Given the description of an element on the screen output the (x, y) to click on. 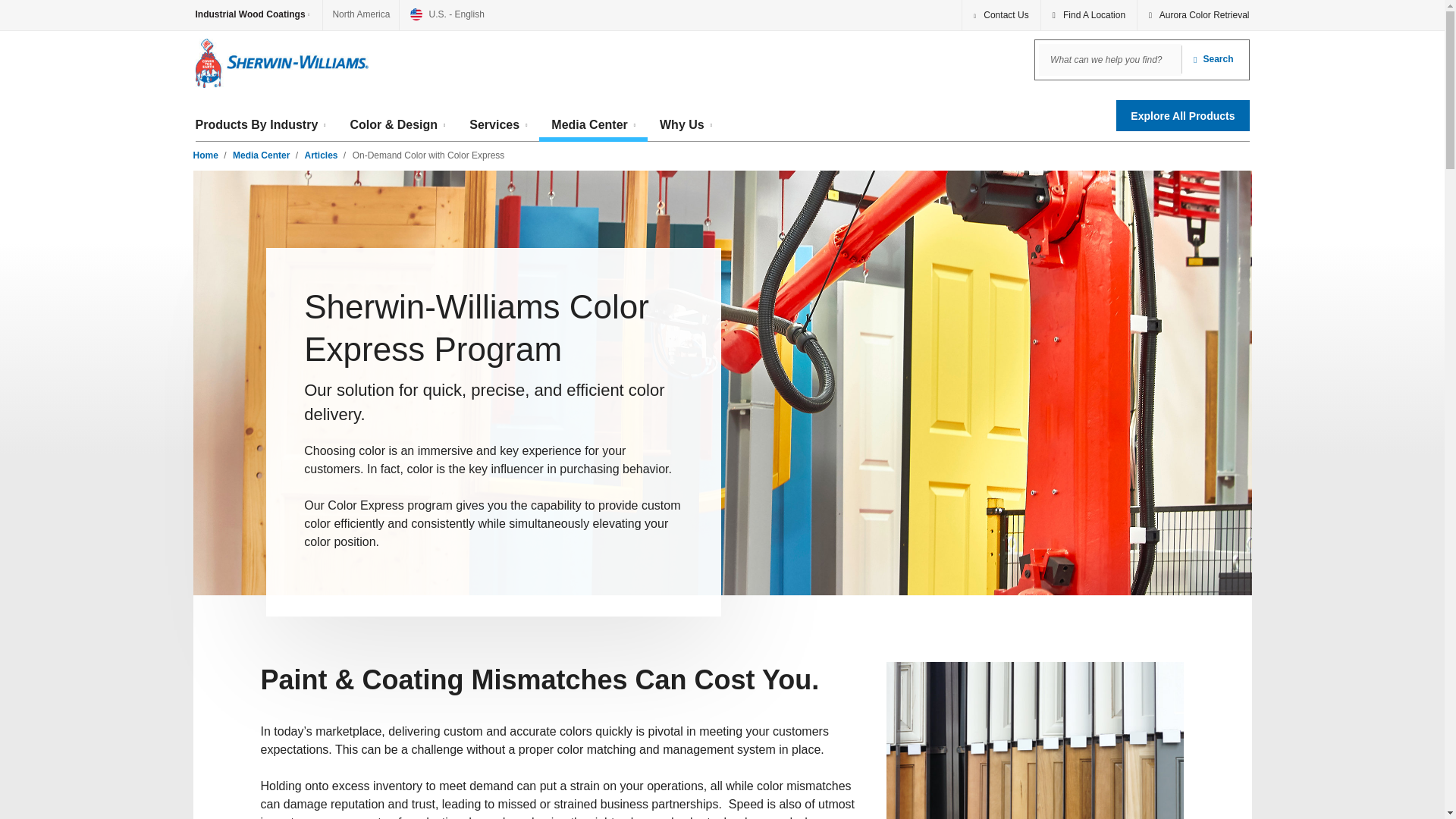
Industrial Wood Coatings (259, 15)
Search (1212, 59)
Aurora Color Retrieval (1193, 15)
North America (360, 15)
Contact Us (1000, 15)
Find A Location (1089, 15)
